Given the description of an element on the screen output the (x, y) to click on. 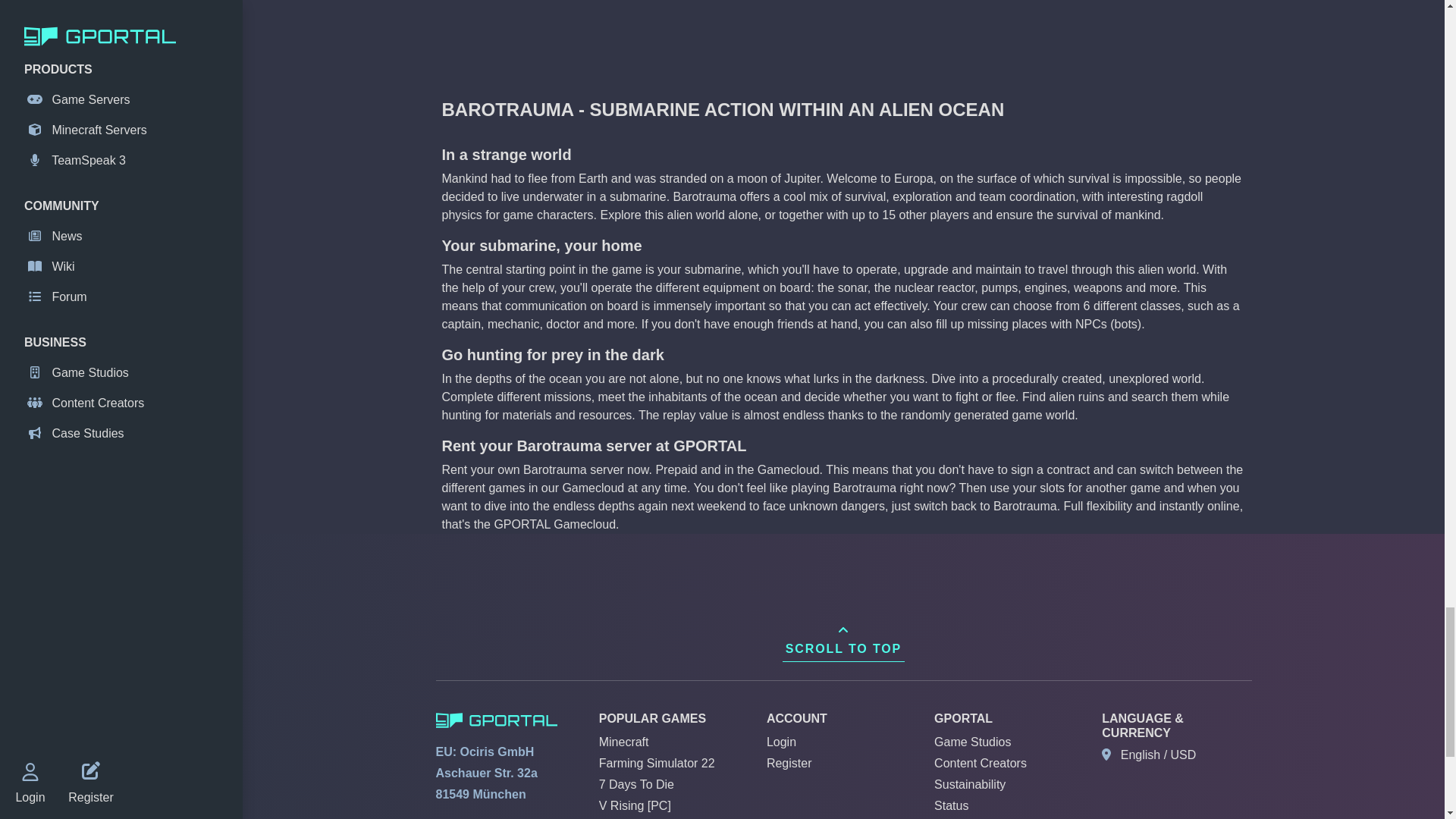
SCROLL TO TOP (843, 640)
SCROLL TO TOP (843, 640)
Minecraft (623, 741)
